Given the description of an element on the screen output the (x, y) to click on. 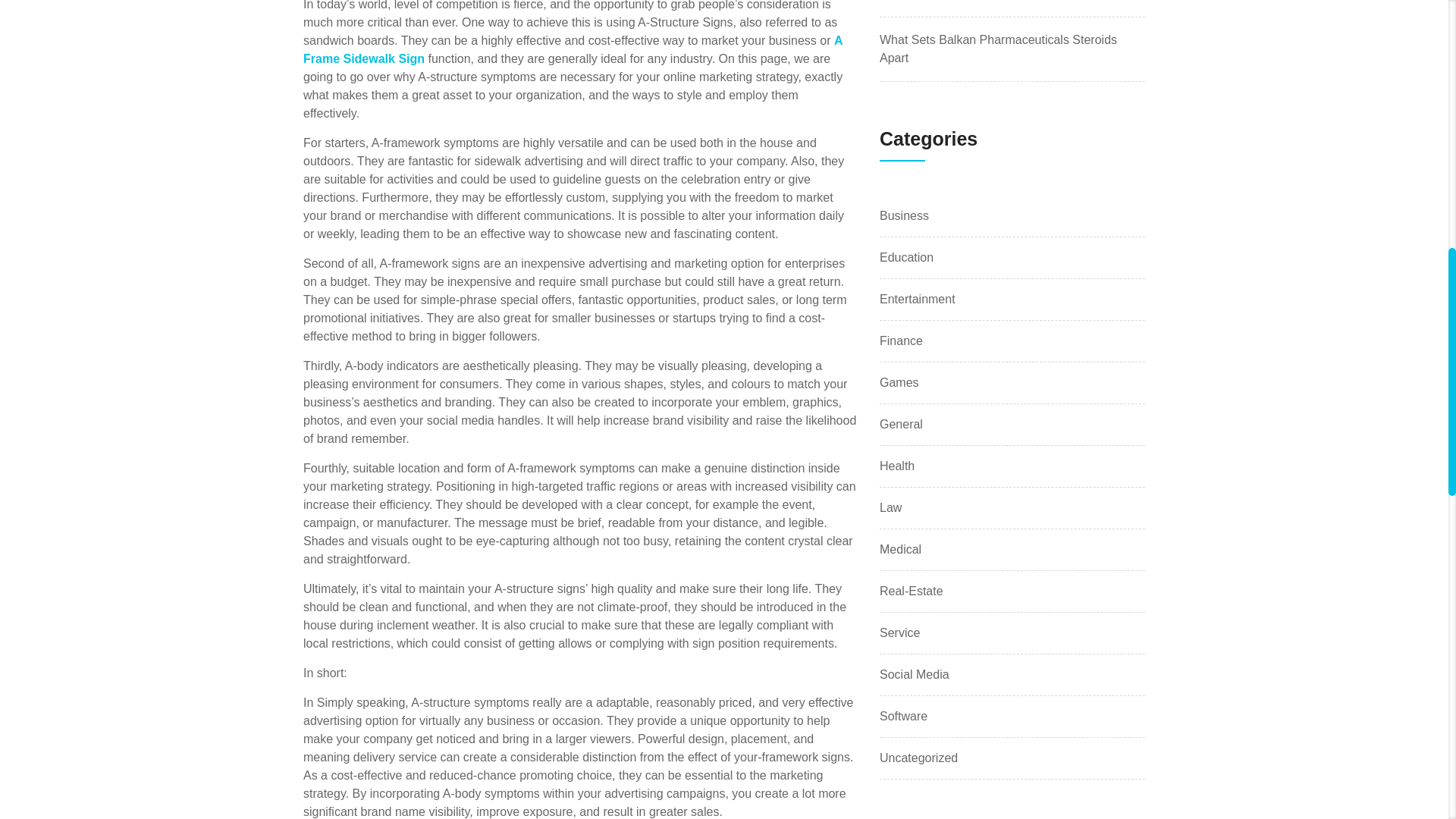
Education (906, 257)
What Sets Balkan Pharmaceuticals Steroids Apart (997, 48)
General (901, 424)
Law (890, 507)
Games (898, 382)
A Frame Sidewalk Sign (572, 49)
Business (903, 216)
Entertainment (917, 299)
Medical (900, 549)
Software (903, 716)
